Given the description of an element on the screen output the (x, y) to click on. 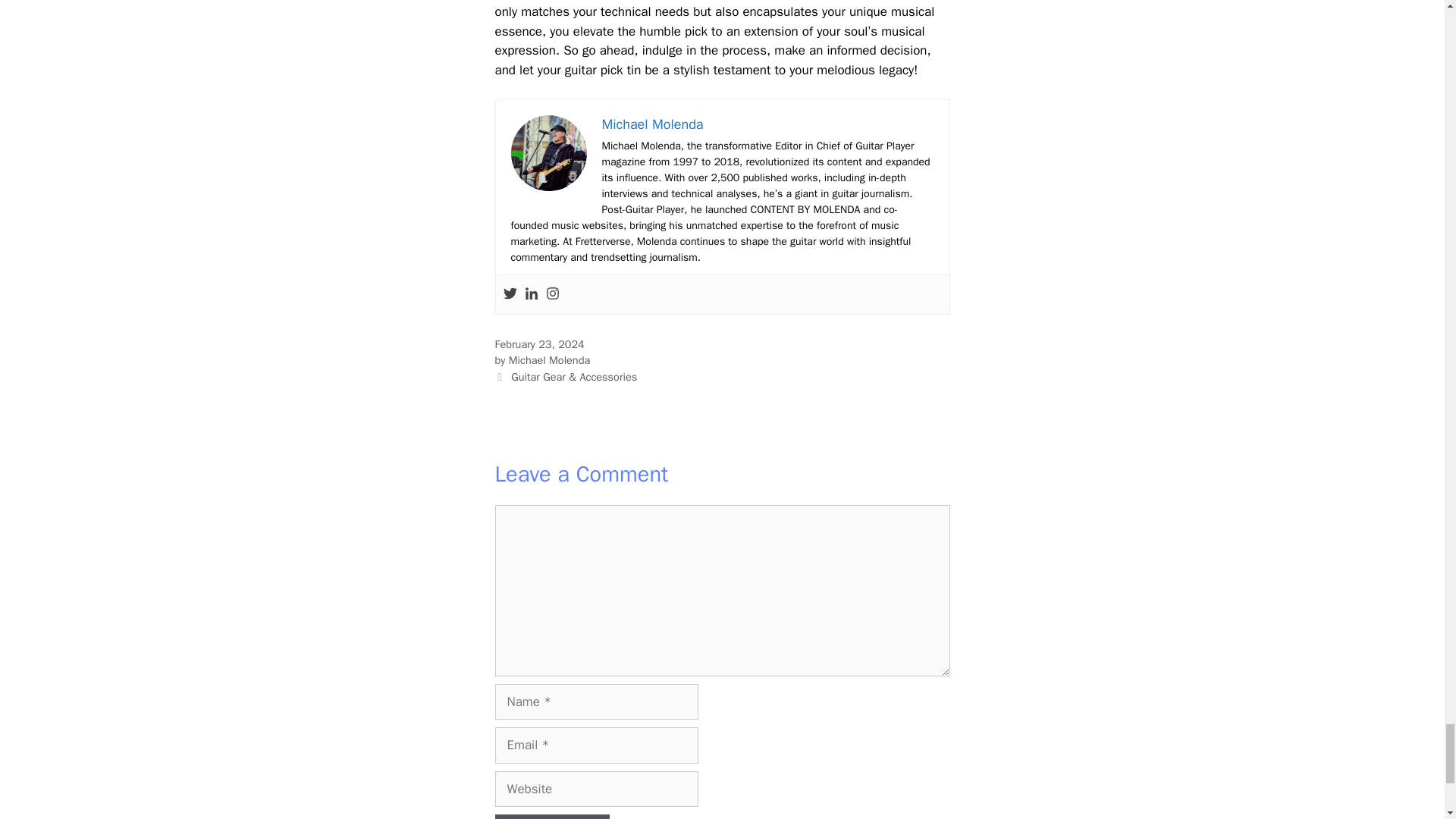
Post Comment (551, 816)
View all posts by Michael Molenda (549, 359)
9:11 am (539, 344)
